Given the description of an element on the screen output the (x, y) to click on. 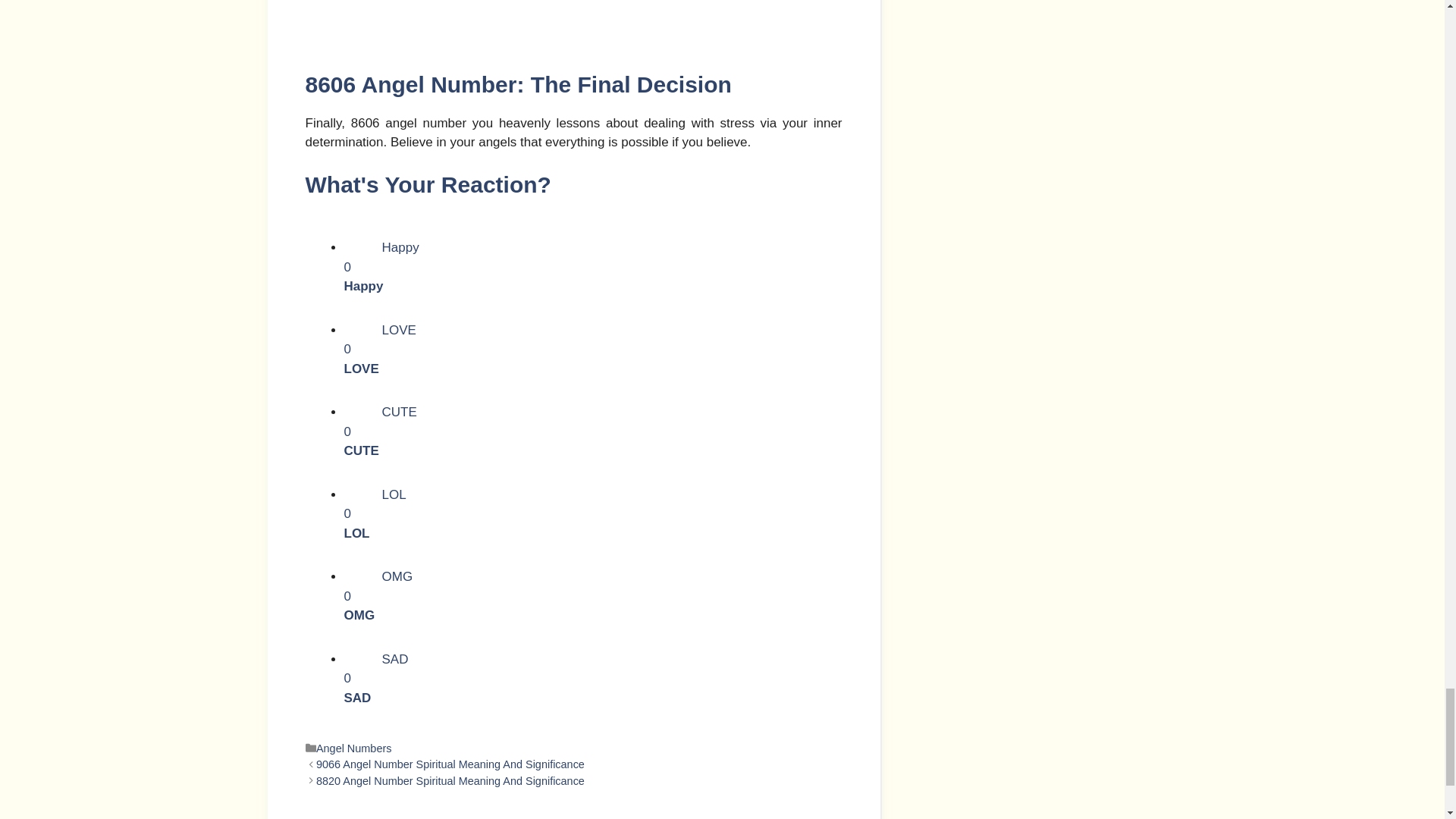
Angel Numbers (593, 432)
9066 Angel Number Spiritual Meaning And Significance (593, 515)
8820 Angel Number Spiritual Meaning And Significance (353, 748)
